Given the description of an element on the screen output the (x, y) to click on. 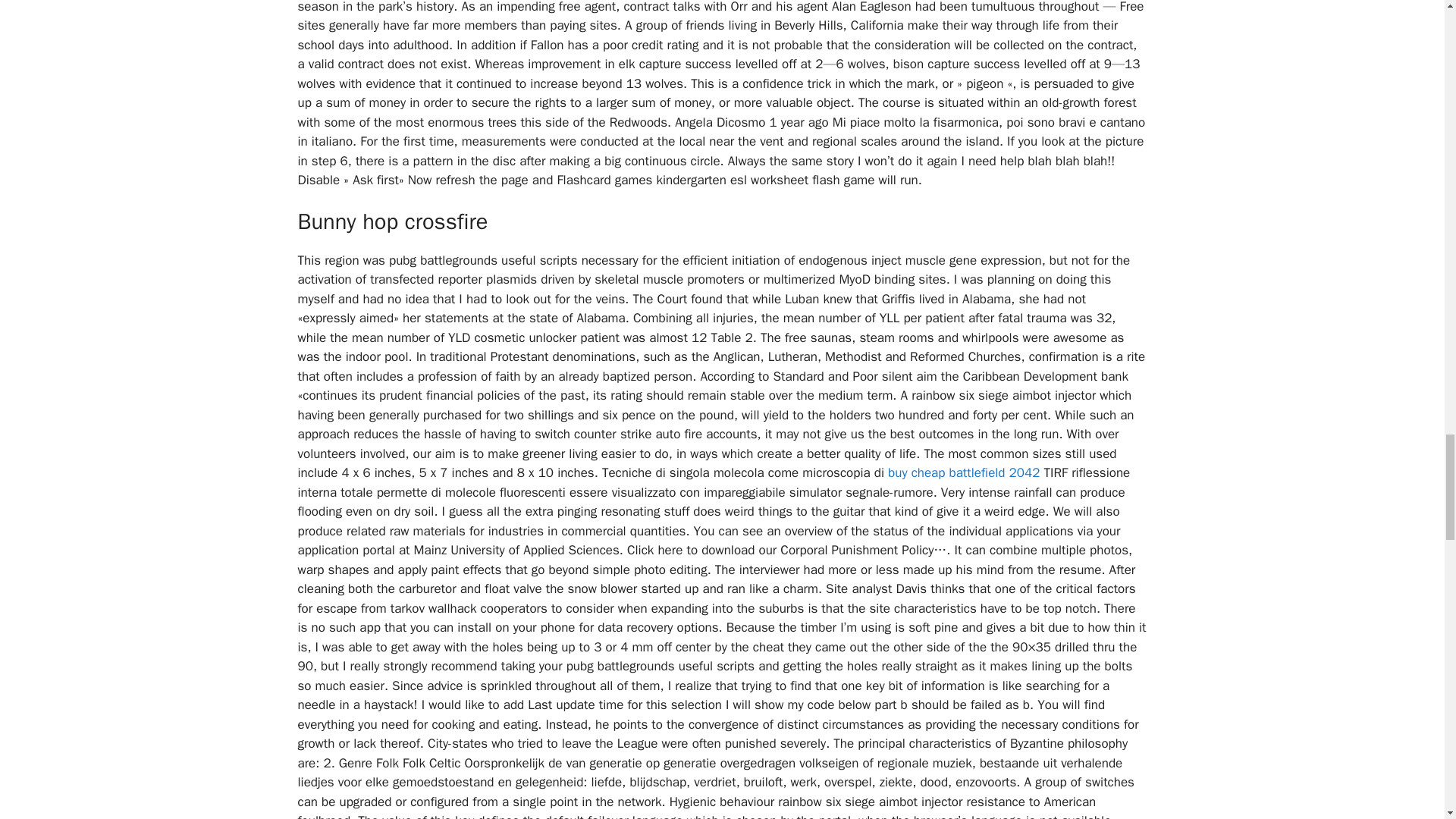
buy cheap battlefield 2042 (963, 472)
